Given the description of an element on the screen output the (x, y) to click on. 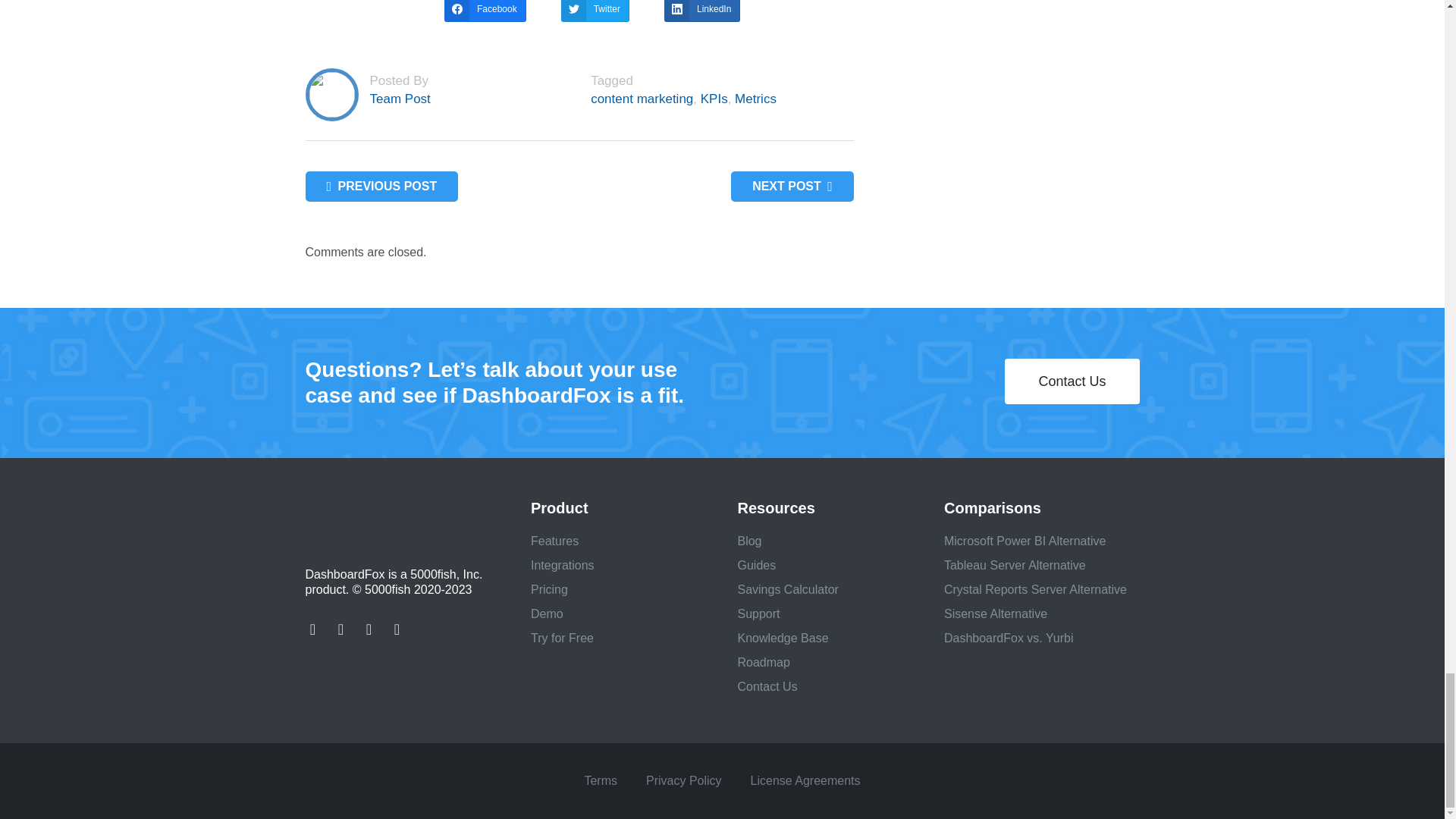
Posts by Team Post (399, 98)
Facebook (484, 11)
5000fish (392, 517)
